Given the description of an element on the screen output the (x, y) to click on. 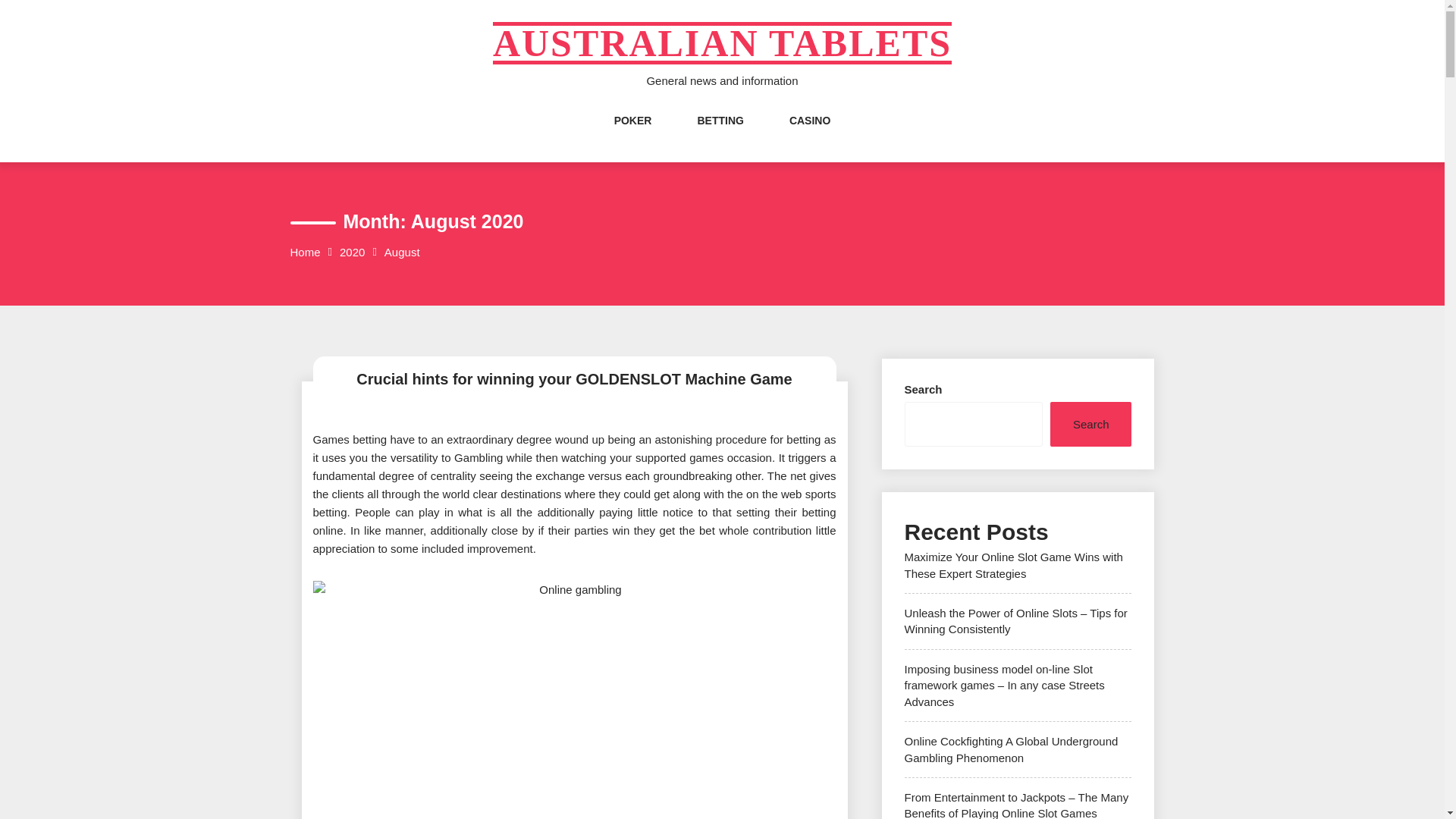
AUSTRALIAN TABLETS (722, 43)
Crucial hints for winning your GOLDENSLOT Machine Game (574, 379)
Home (304, 251)
CASINO (809, 135)
BETTING (719, 135)
2020 (352, 251)
